Given the description of an element on the screen output the (x, y) to click on. 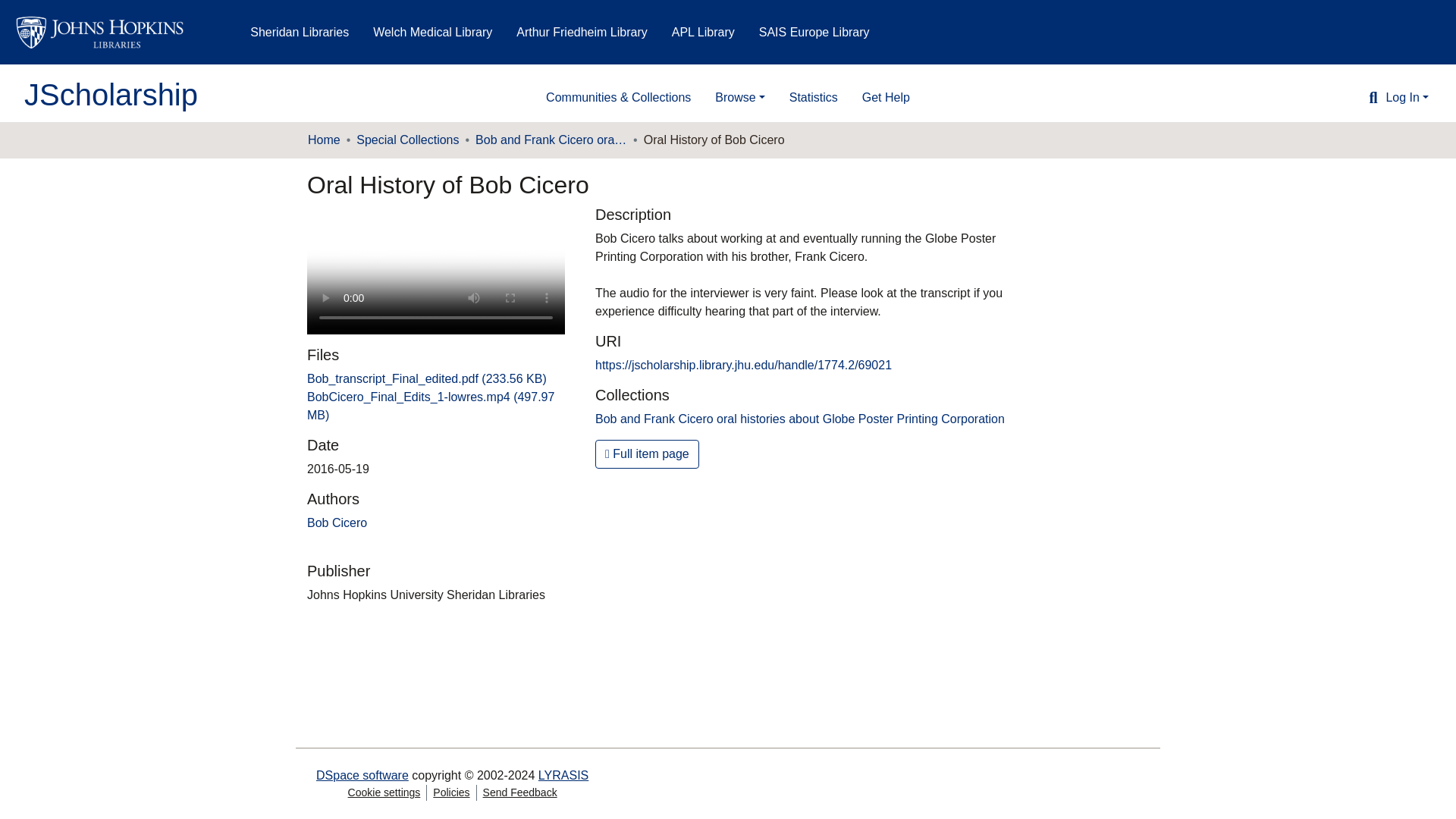
Bob Cicero (336, 522)
Special Collections (407, 140)
Home (323, 140)
Get Help (885, 97)
LYRASIS (563, 775)
Statistics (813, 97)
JScholarship (111, 94)
DSpace software (362, 775)
Full item page (646, 453)
SAIS Europe Library (813, 31)
Browse (739, 97)
Cookie settings (384, 792)
Download bitstream (427, 378)
Sheridan Libraries (299, 31)
